Given the description of an element on the screen output the (x, y) to click on. 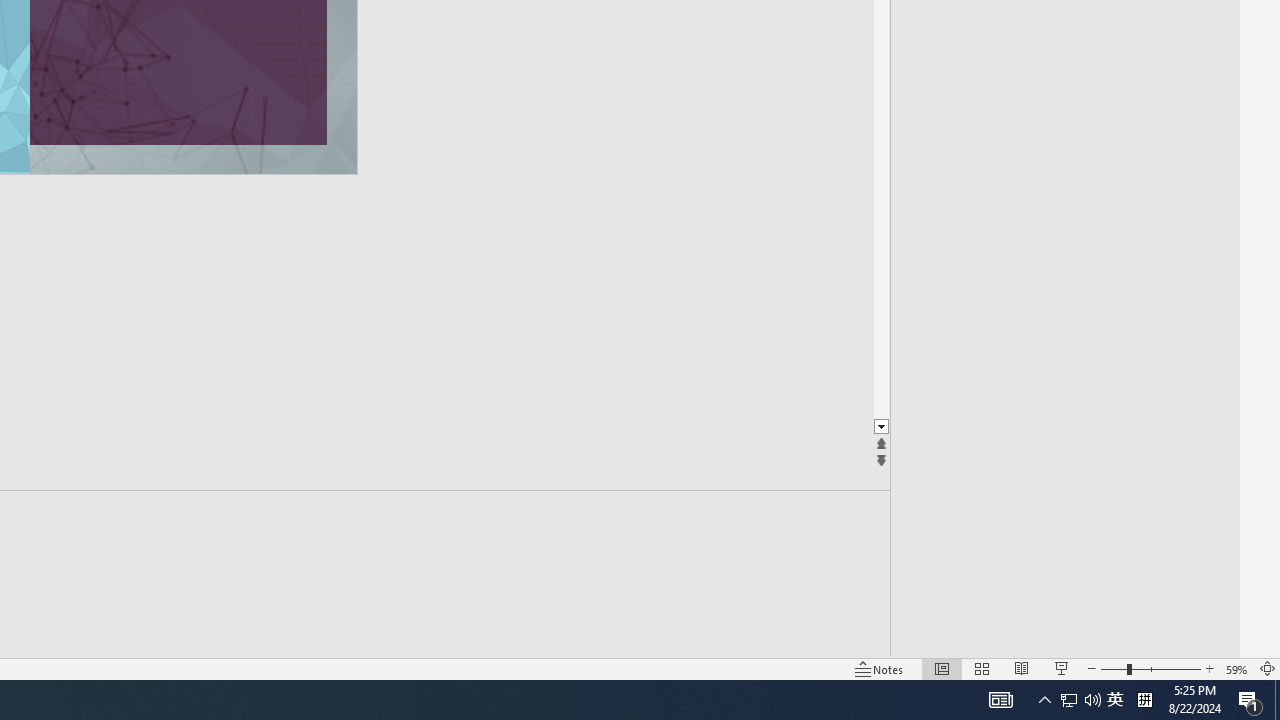
Zoom 59% (1236, 668)
